Given the description of an element on the screen output the (x, y) to click on. 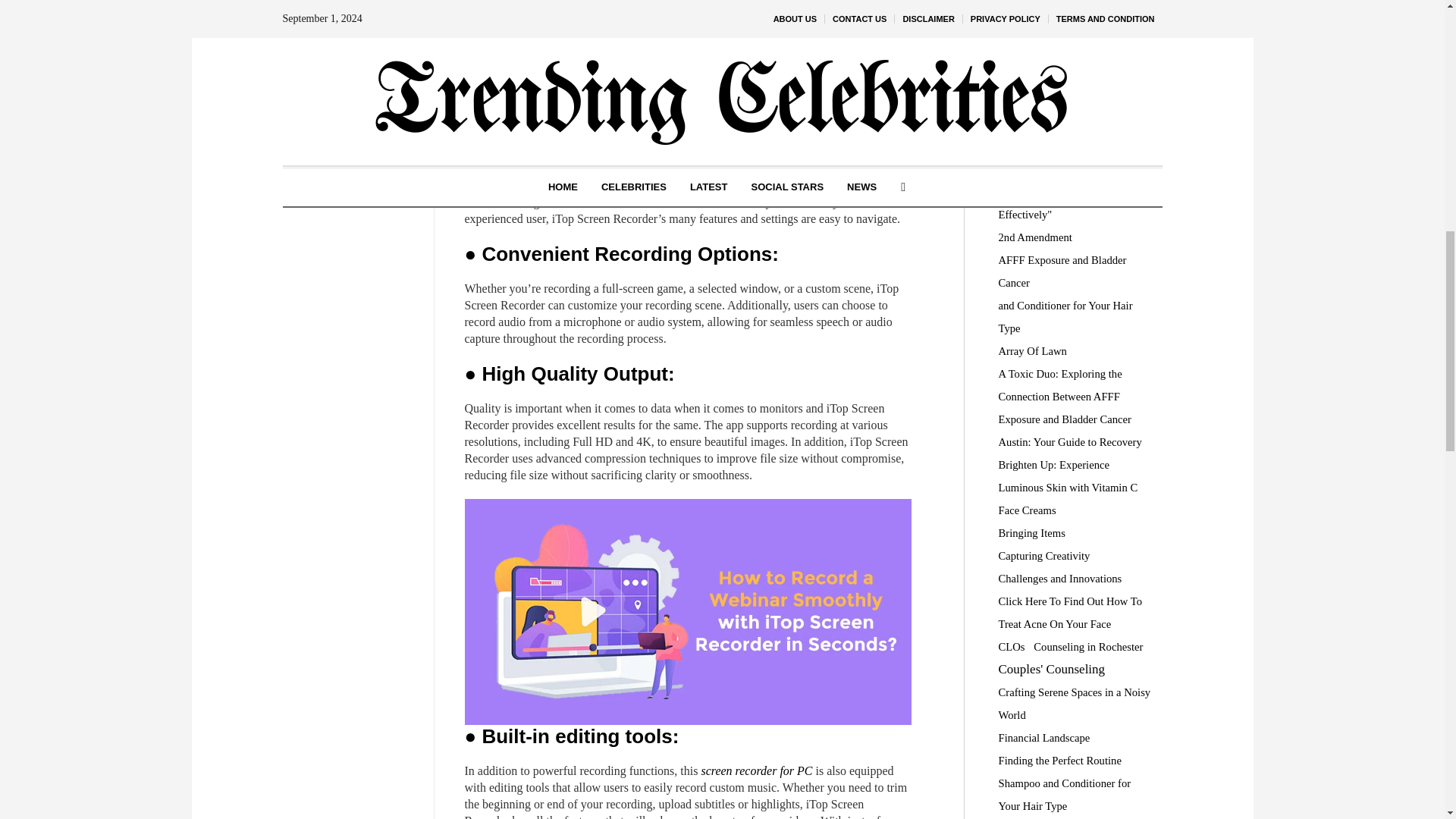
Facebook (349, 25)
Pinterest (349, 71)
screen recorder for PC (754, 770)
screen recorder Windows 10 (770, 65)
Twitter (349, 48)
